Given the description of an element on the screen output the (x, y) to click on. 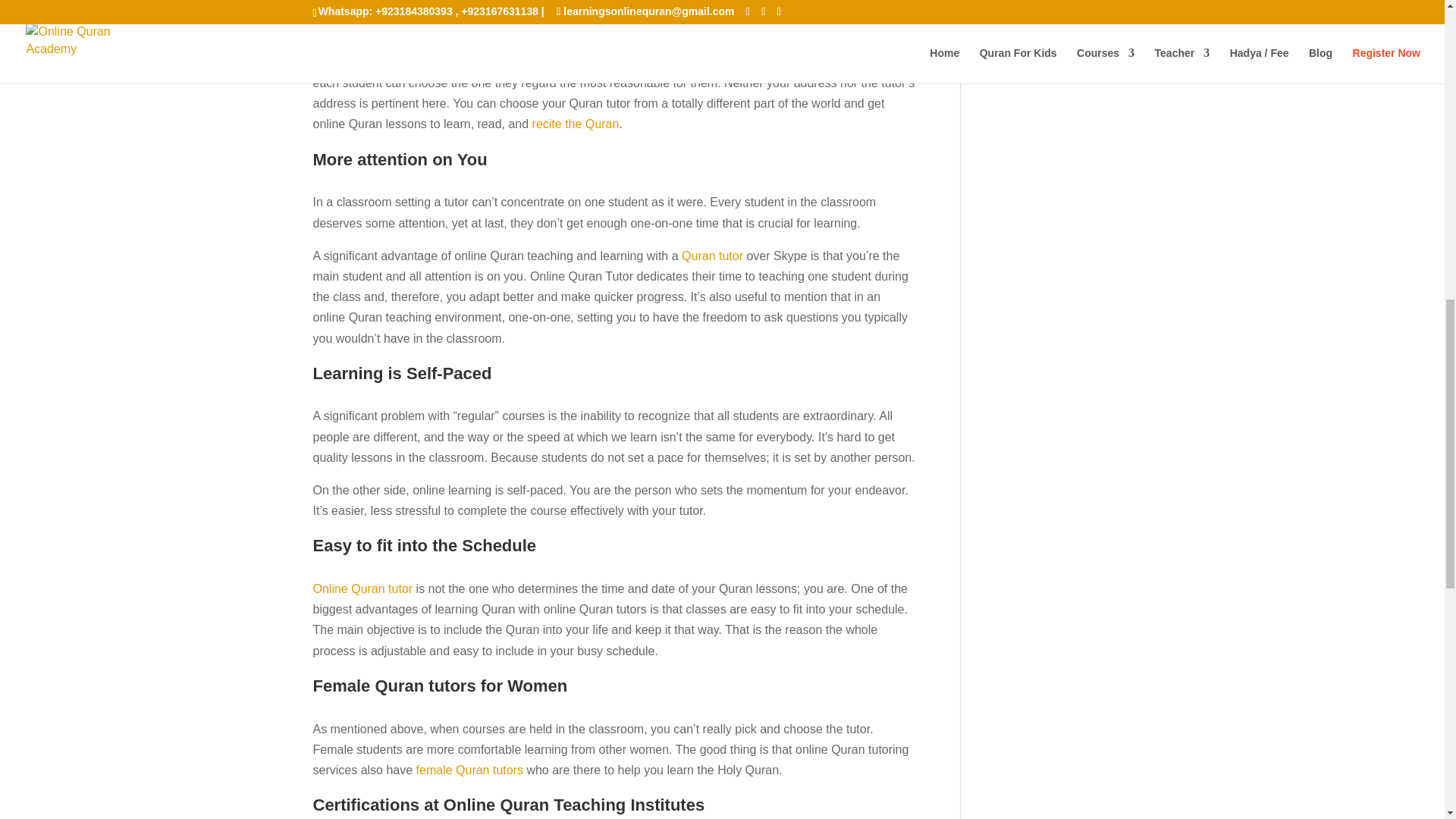
recite the Quran (576, 123)
Online Quran tutor (362, 588)
Quran tutor (711, 255)
learning Quran online (507, 62)
female Quran tutors (469, 769)
